Given the description of an element on the screen output the (x, y) to click on. 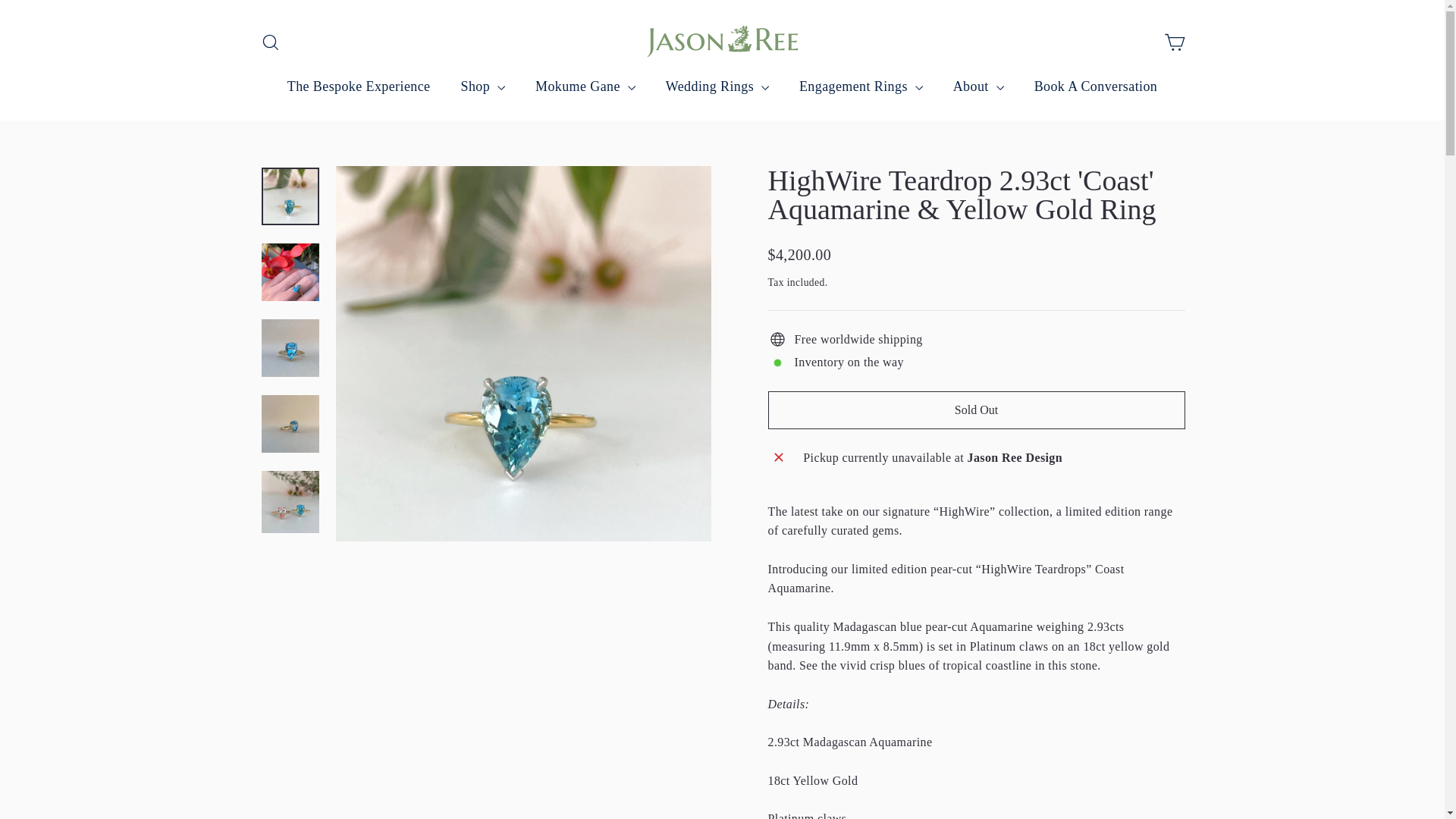
Book A Conversation Element type: text (1096, 86)
icon-cart
Cart Element type: text (1173, 41)
icon-search
Search Element type: text (269, 41)
Sold Out Element type: text (975, 410)
The Bespoke Experience Element type: text (358, 86)
